Given the description of an element on the screen output the (x, y) to click on. 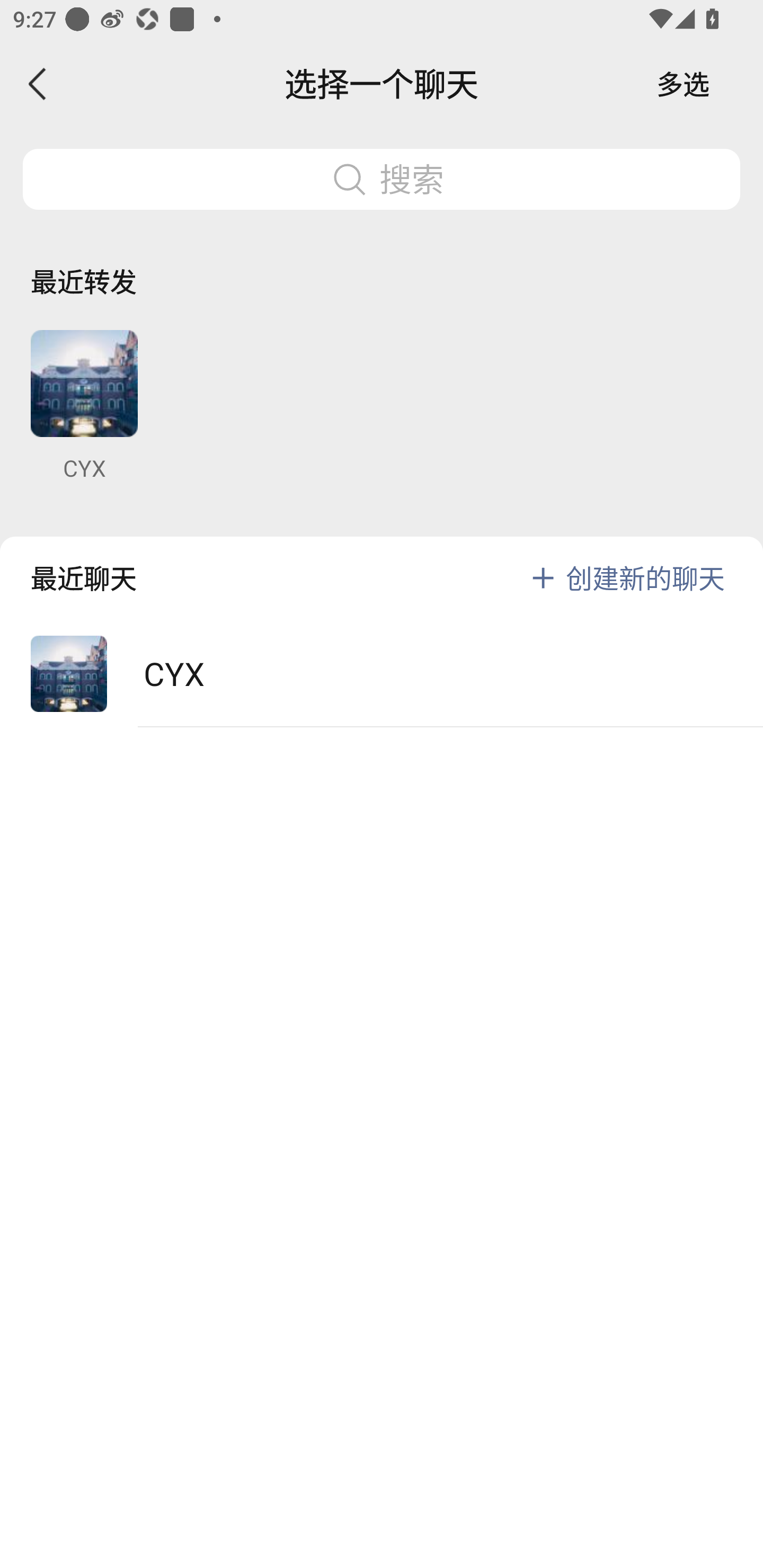
返回 (38, 83)
多选 (683, 83)
CYX (84, 405)
创建新的聊天 (645, 577)
CYX (381, 673)
